Given the description of an element on the screen output the (x, y) to click on. 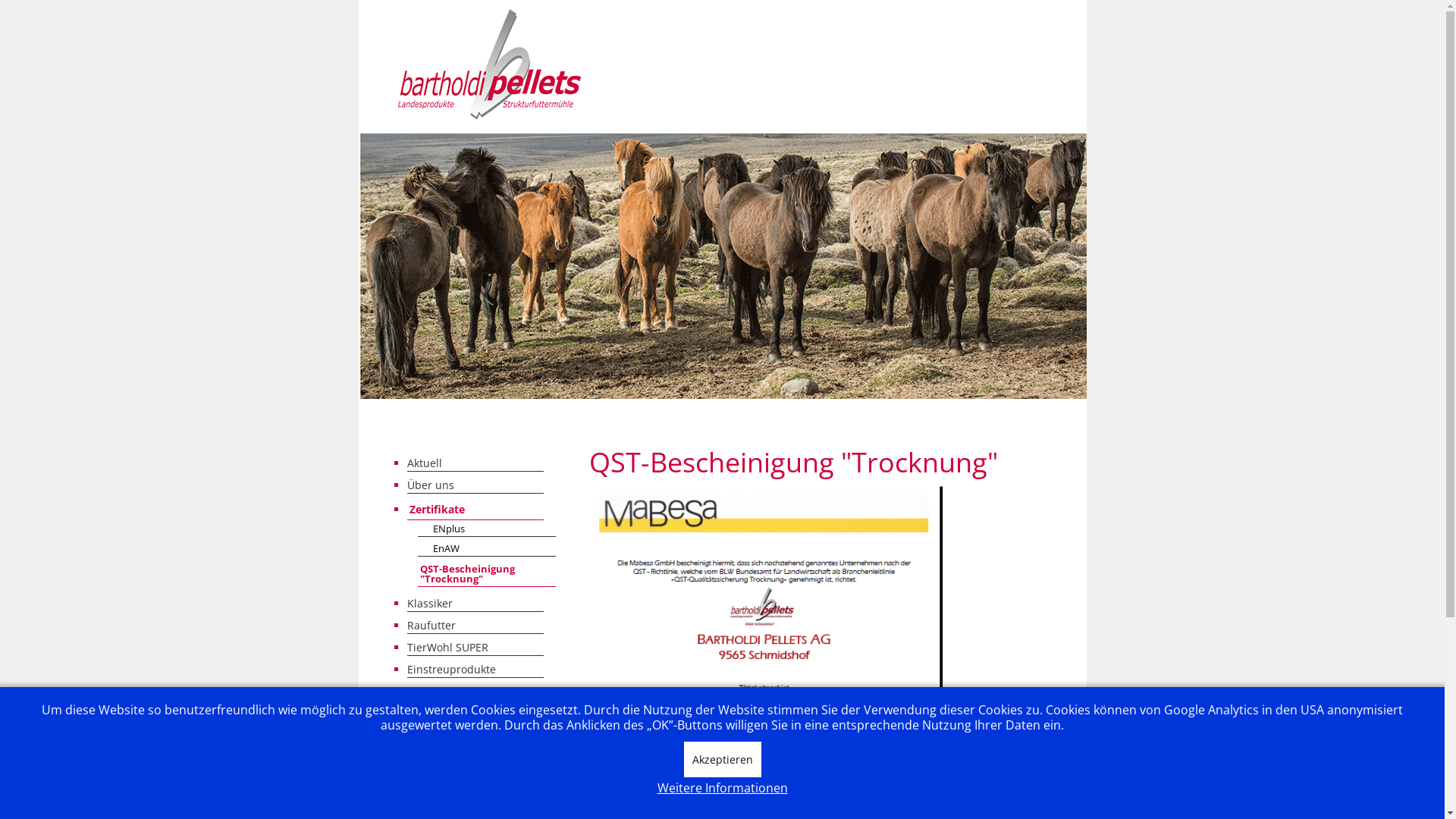
QST-Bescheinigung "Trocknung" Element type: text (486, 573)
EnAW Element type: text (486, 549)
ENplus Element type: text (486, 529)
Klassiker Element type: text (474, 602)
Holzpellets Element type: text (474, 734)
Weitere Informationen Element type: text (721, 788)
Einstreuprodukte Element type: text (474, 669)
Zertifikate Element type: text (474, 509)
Holzbriketts Preisliste Element type: text (474, 778)
Raufutter Element type: text (474, 625)
Einstreu-Preisliste Element type: text (474, 690)
Neubau Lagerhalle 2011 Element type: text (474, 801)
Aktuell Element type: text (474, 463)
Akzeptieren Element type: text (722, 759)
TierWohl SUPER Element type: text (474, 646)
Gartenbau Element type: text (474, 757)
